Given the description of an element on the screen output the (x, y) to click on. 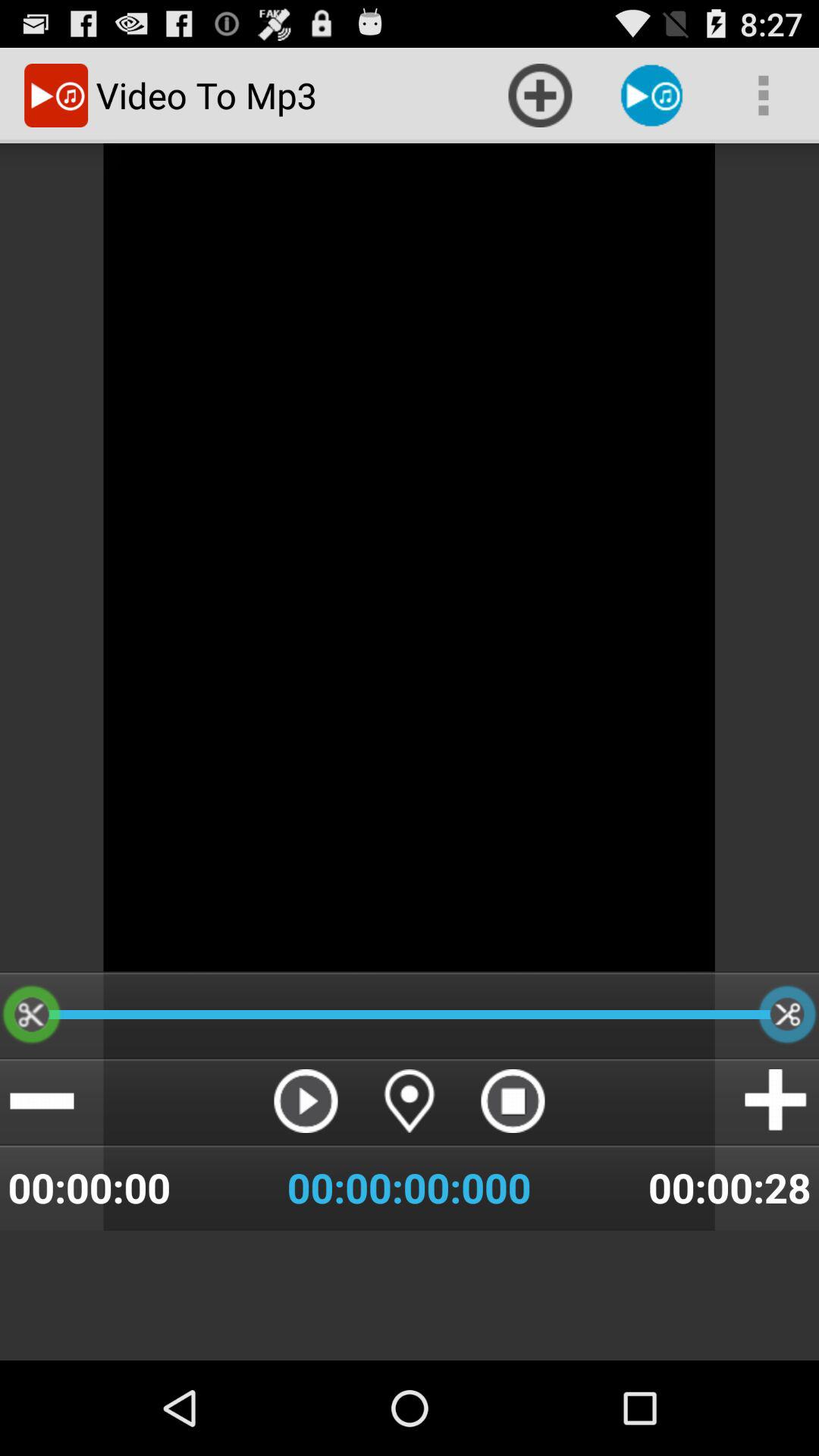
turn on the icon to the right of the video to mp3 item (540, 95)
